Given the description of an element on the screen output the (x, y) to click on. 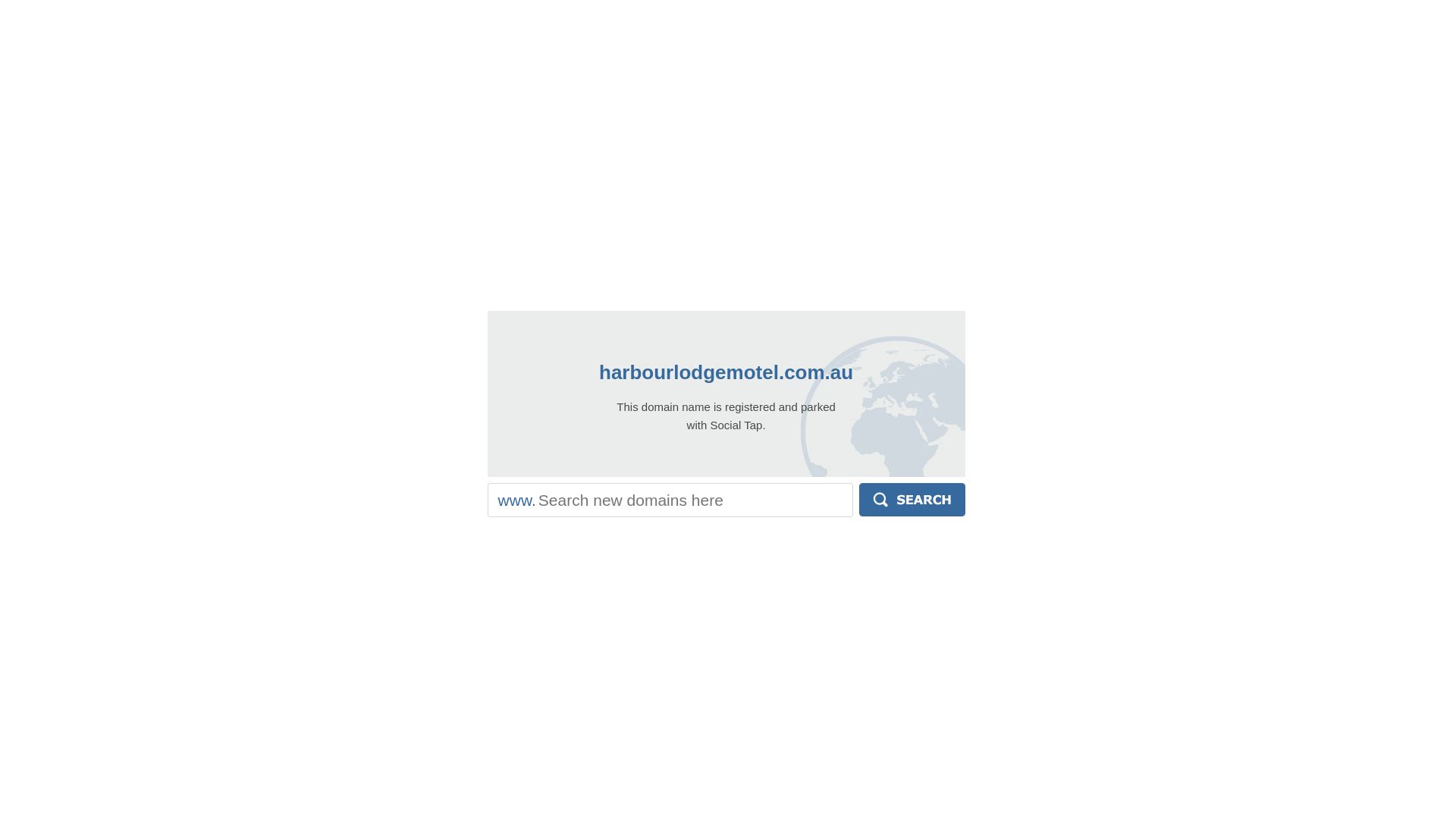
Search Element type: text (912, 499)
